Given the description of an element on the screen output the (x, y) to click on. 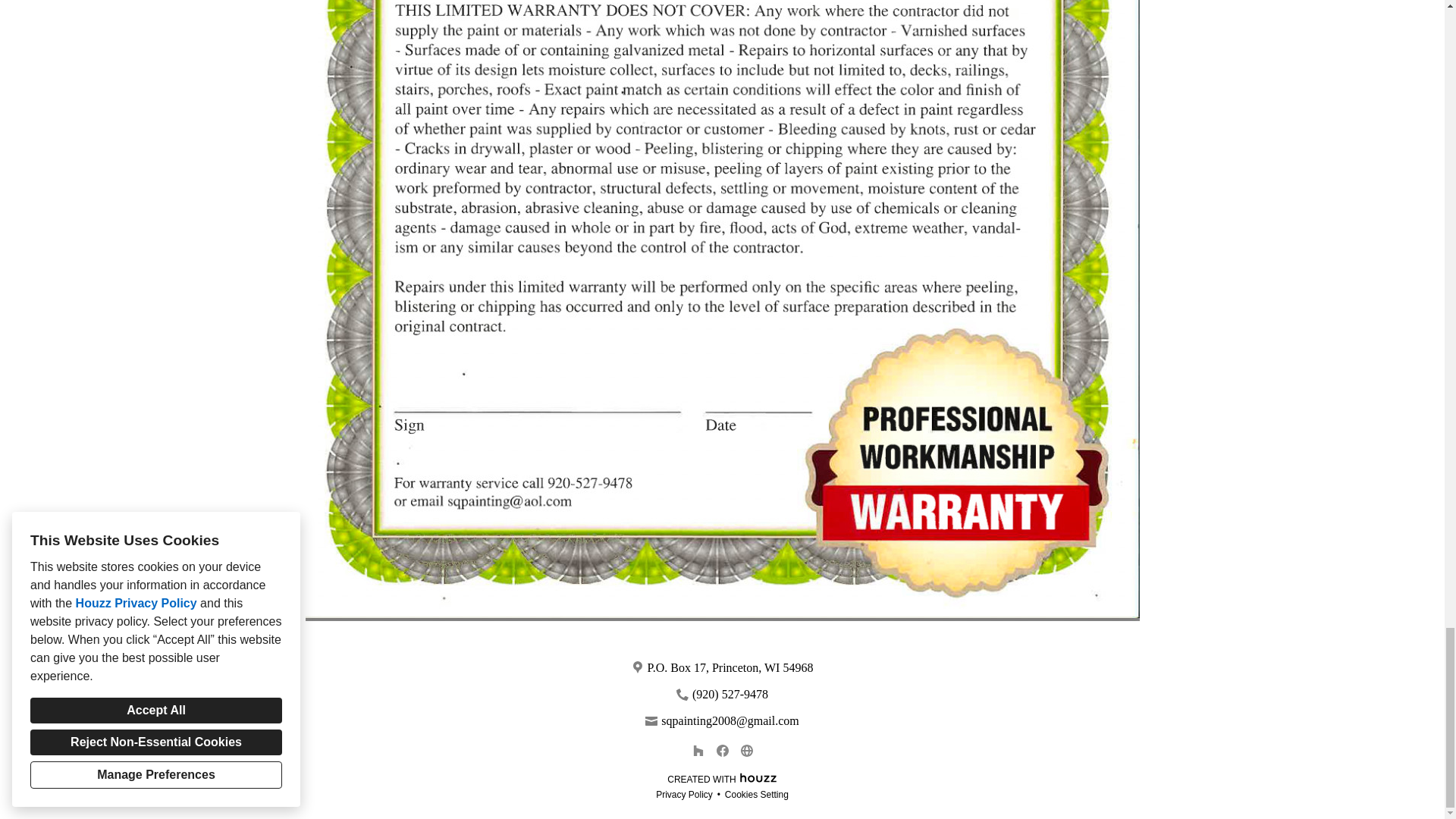
Houzz (758, 776)
P.O. Box 17, Princeton, WI 54968 (730, 667)
